Given the description of an element on the screen output the (x, y) to click on. 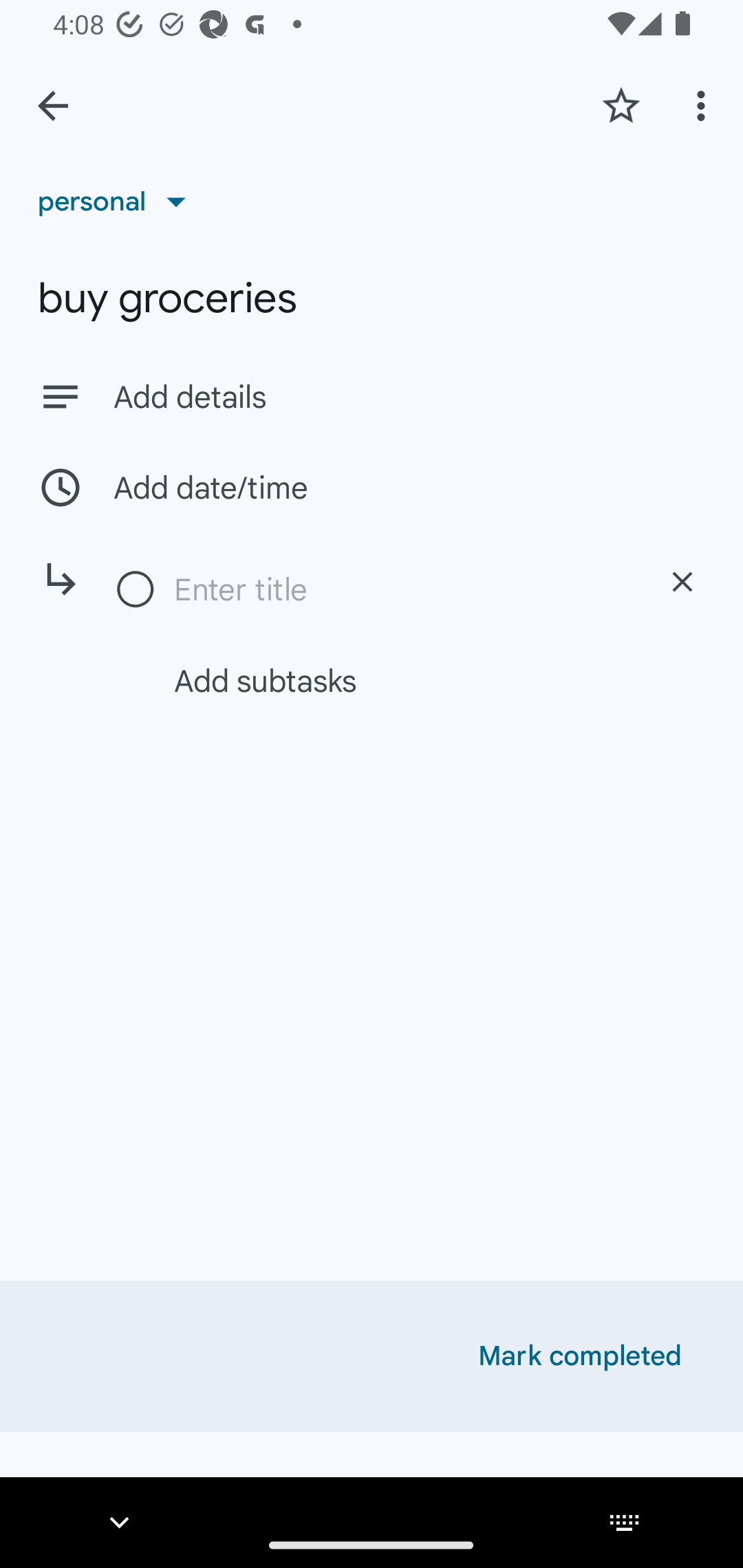
Back (53, 105)
Add star (620, 105)
More options (704, 105)
personal List, personal selected, 1 of 13 (118, 201)
buy groceries (371, 298)
Add details (371, 396)
Add details (409, 397)
Add date/time (371, 487)
Enter title (401, 589)
Delete subtask (682, 581)
Mark as complete (136, 590)
Add subtasks (394, 680)
Mark completed (580, 1355)
